Given the description of an element on the screen output the (x, y) to click on. 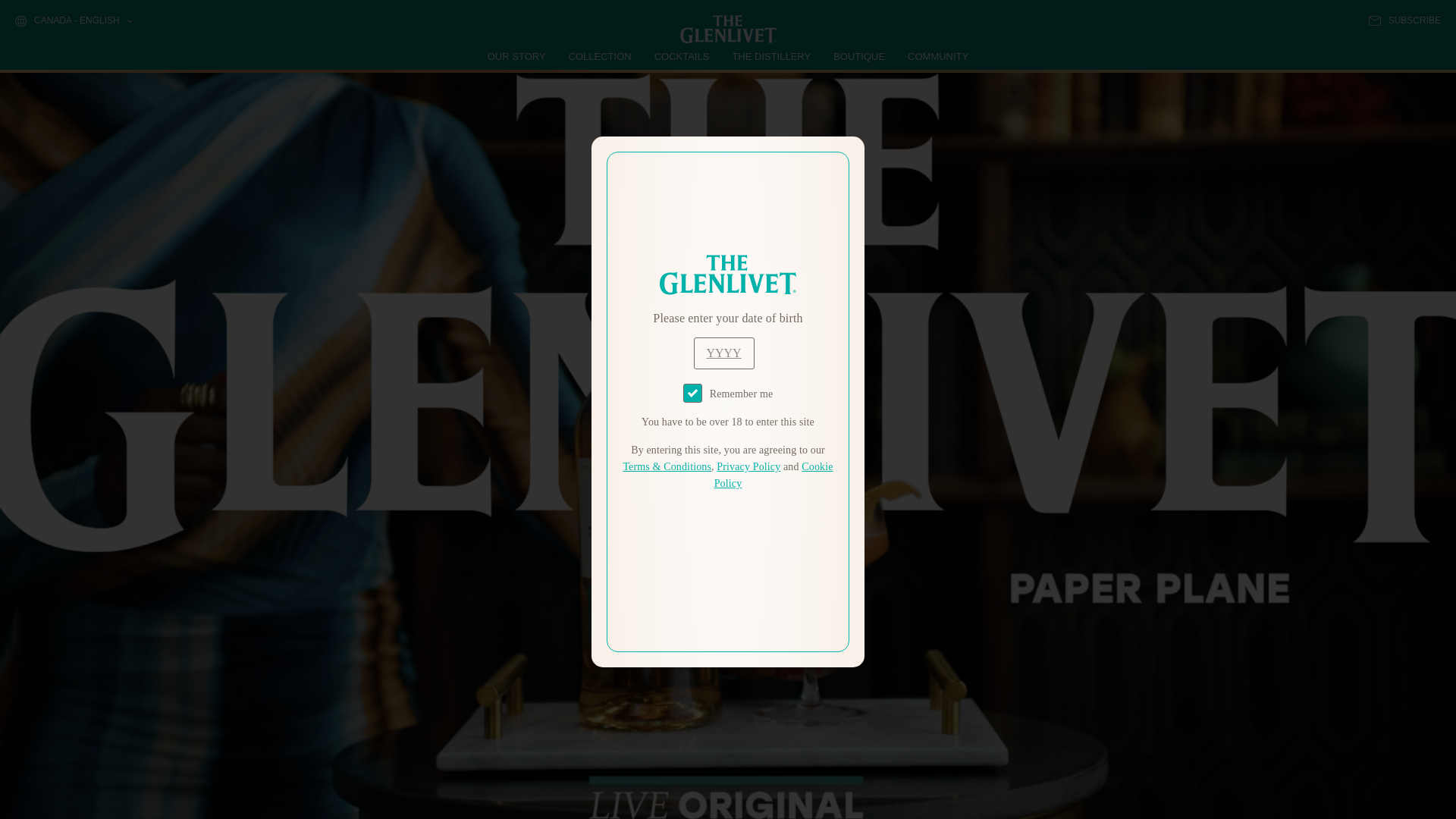
OUR STORY (516, 56)
COCKTAILS (681, 56)
Privacy Policy (748, 466)
BOUTIQUE (858, 56)
THE DISTILLERY (771, 56)
year (723, 353)
SUBSCRIBE (1404, 20)
COMMUNITY (937, 56)
Cookie Policy (773, 474)
COLLECTION (600, 56)
